Given the description of an element on the screen output the (x, y) to click on. 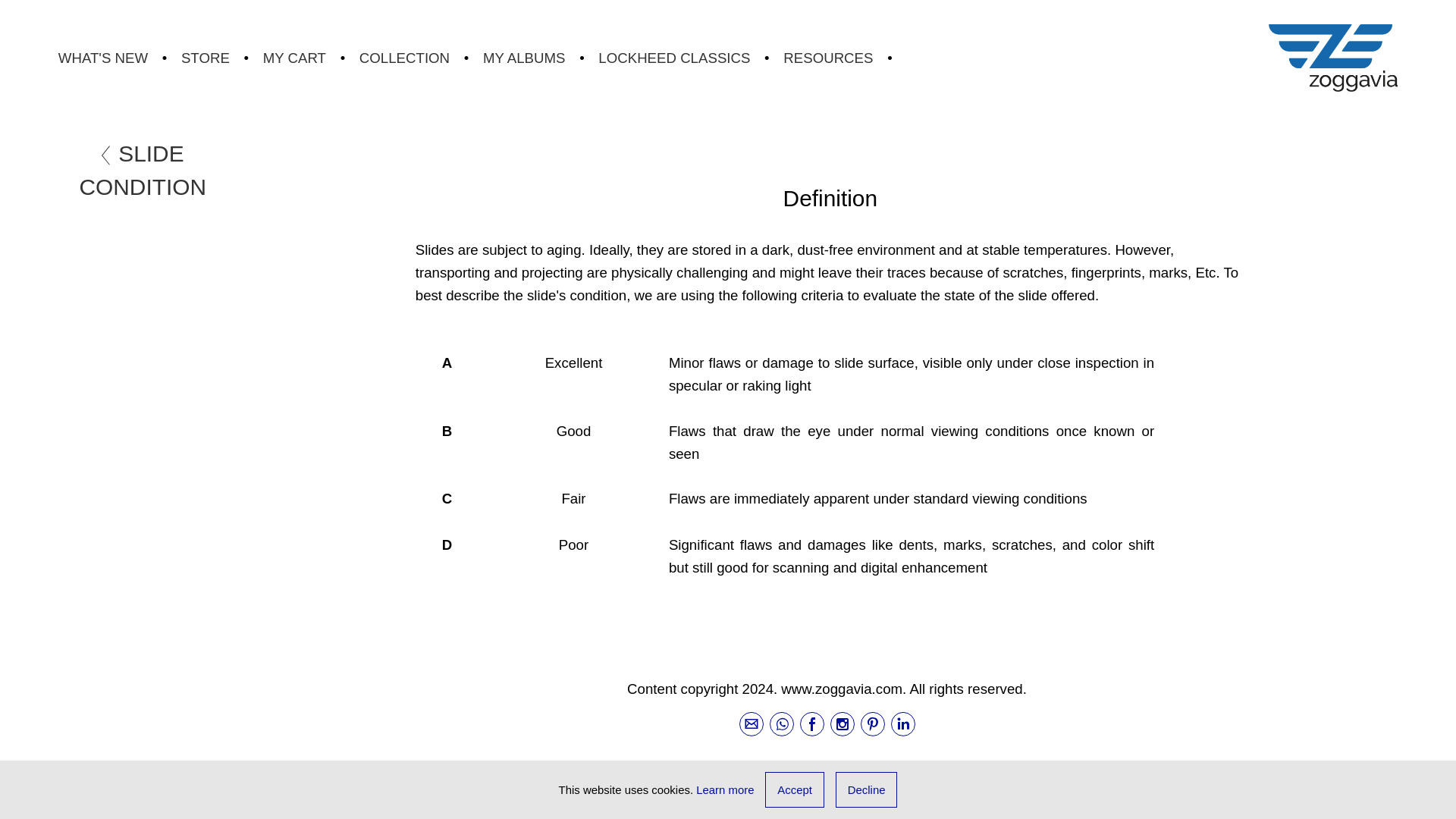
Learn more (724, 789)
COLLECTION (404, 57)
MY CART (294, 57)
Accept (794, 789)
MY ALBUMS (524, 57)
STORE (205, 57)
RESOURCES (827, 57)
Decline (866, 789)
WHAT'S NEW (103, 57)
LOCKHEED CLASSICS (673, 57)
